Given the description of an element on the screen output the (x, y) to click on. 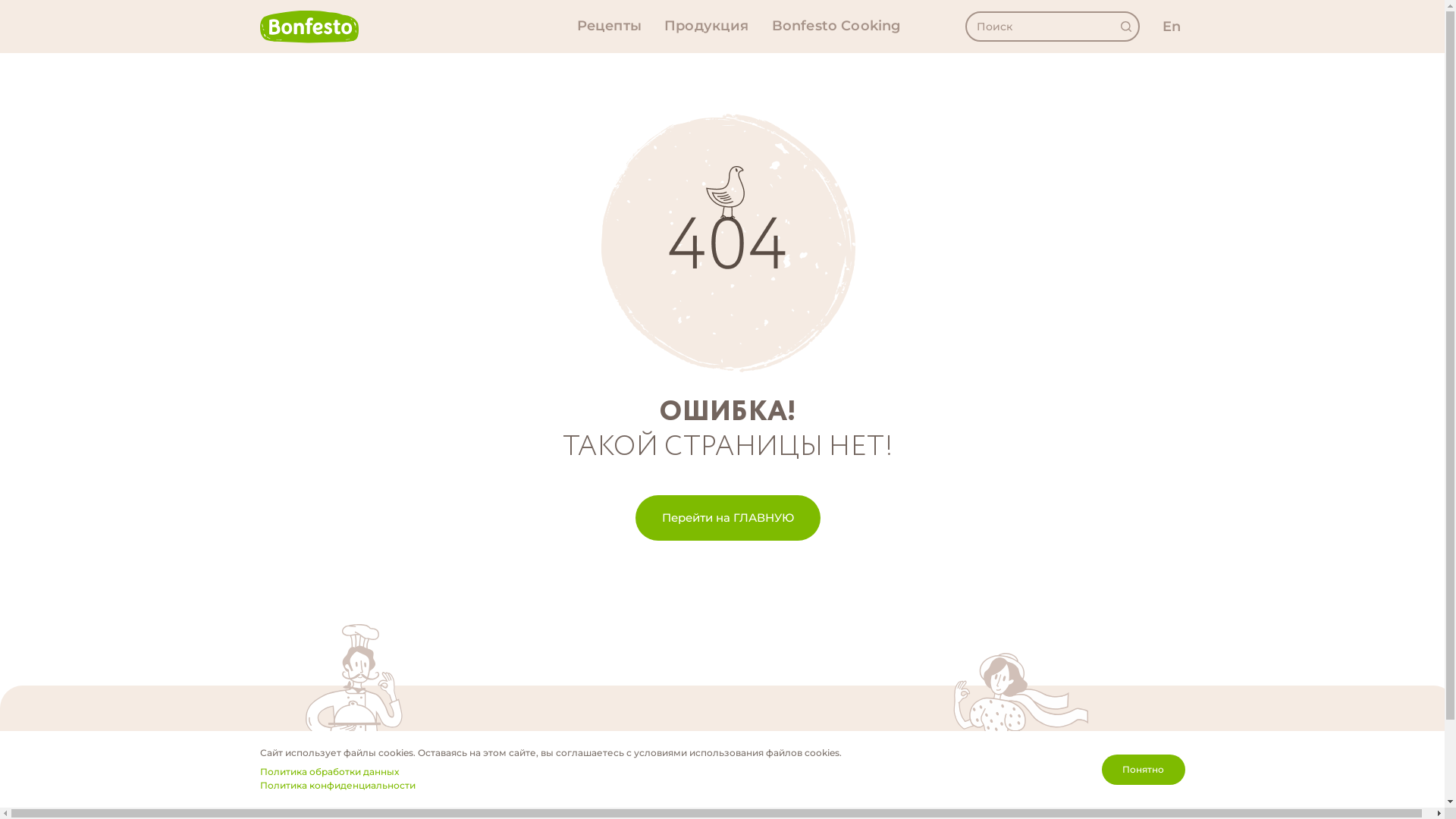
Bonfesto Cooking Element type: text (835, 26)
En Element type: text (1172, 26)
